Given the description of an element on the screen output the (x, y) to click on. 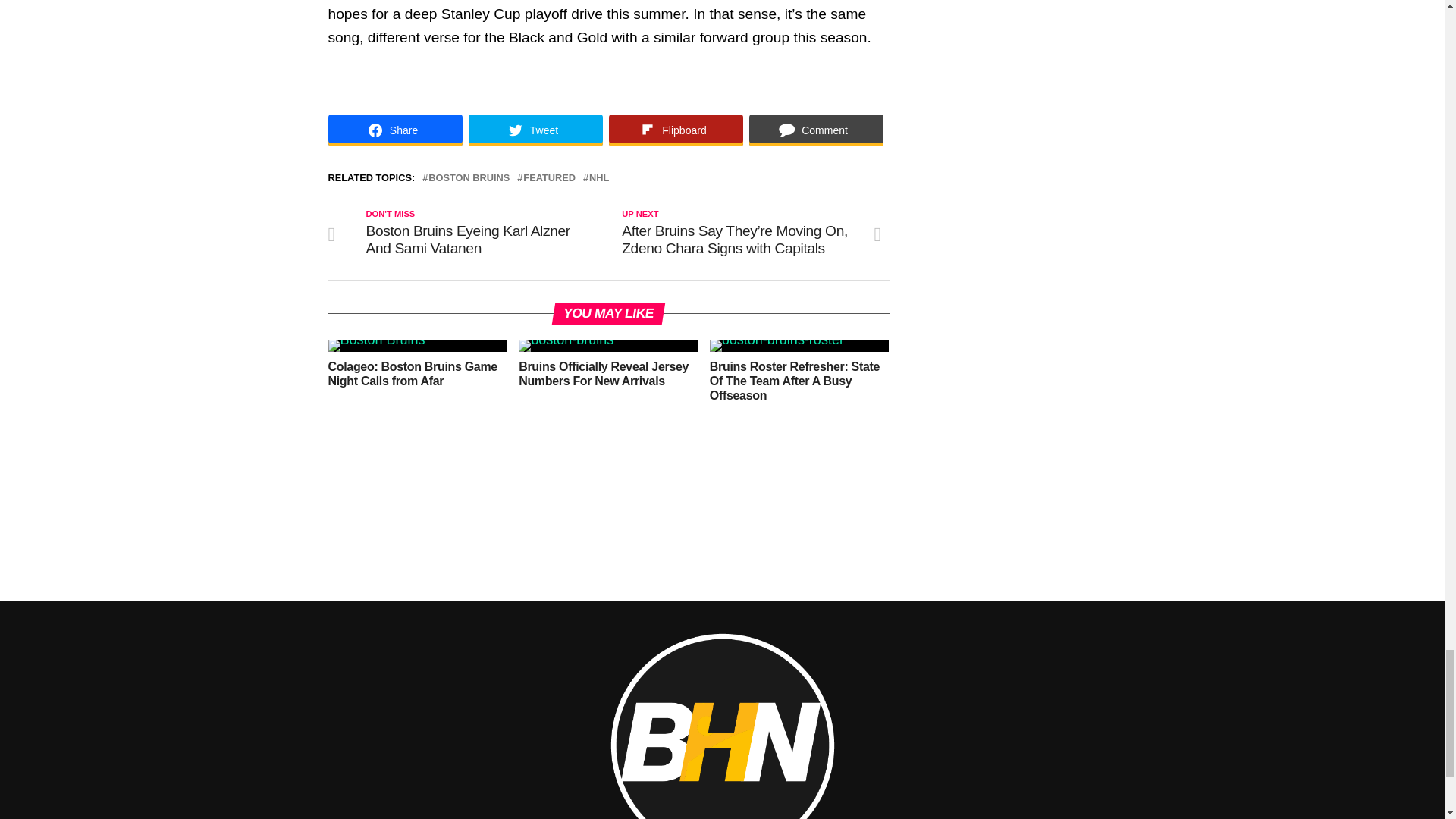
Share on Flipboard (675, 130)
Share on Tweet (535, 130)
Share on Comment (816, 130)
Share on Share (394, 130)
